Given the description of an element on the screen output the (x, y) to click on. 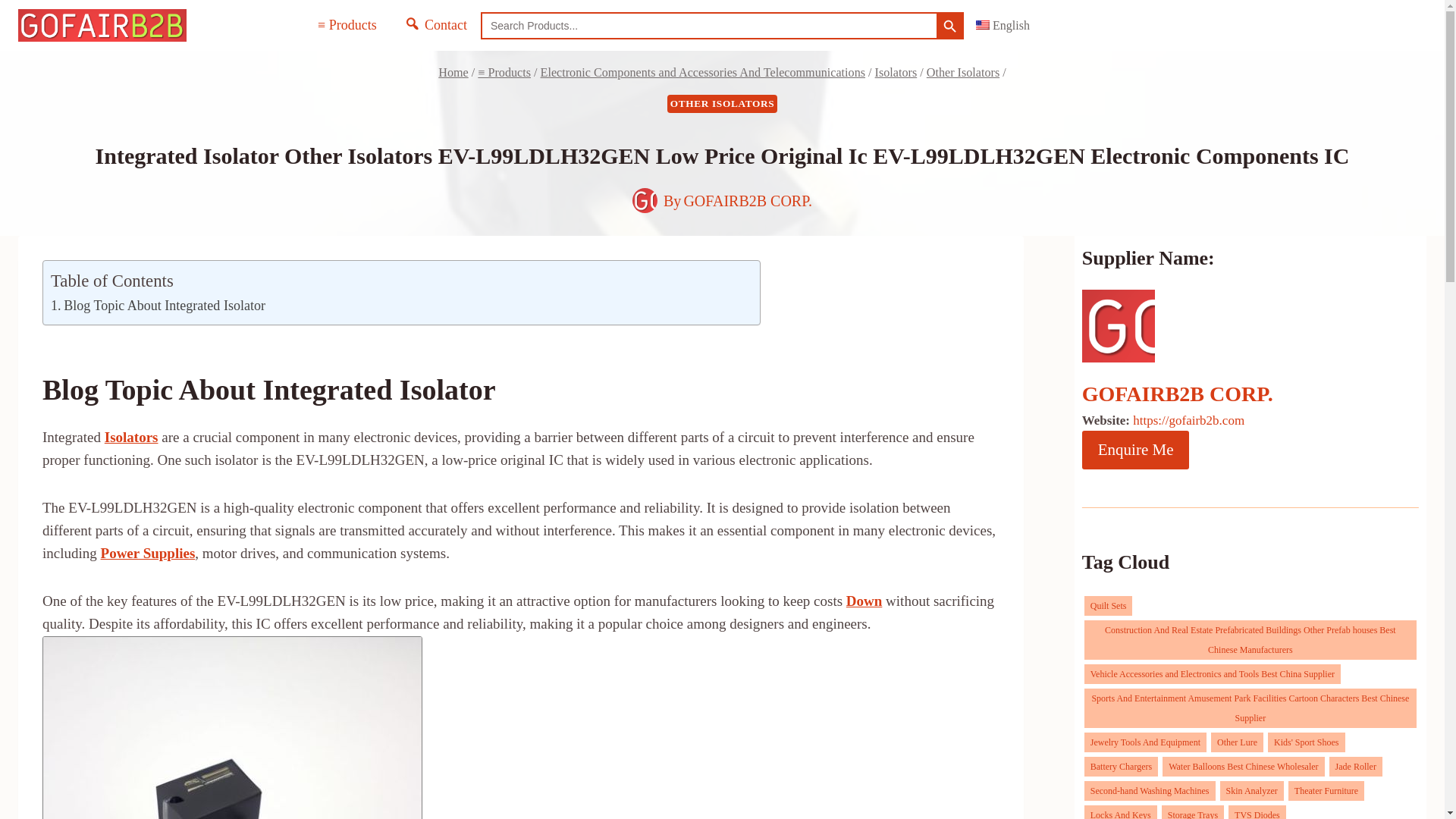
Isolators (896, 72)
English (1002, 25)
OTHER ISOLATORS (721, 104)
Electronic Components and Accessories And Telecommunications (702, 72)
GOFAIRB2B CORP. (747, 200)
Home (452, 72)
Blog Topic About Integrated Isolator (157, 305)
Power Supplies (147, 553)
Other Isolators (962, 72)
Blog Topic About Integrated Isolator (157, 305)
